Given the description of an element on the screen output the (x, y) to click on. 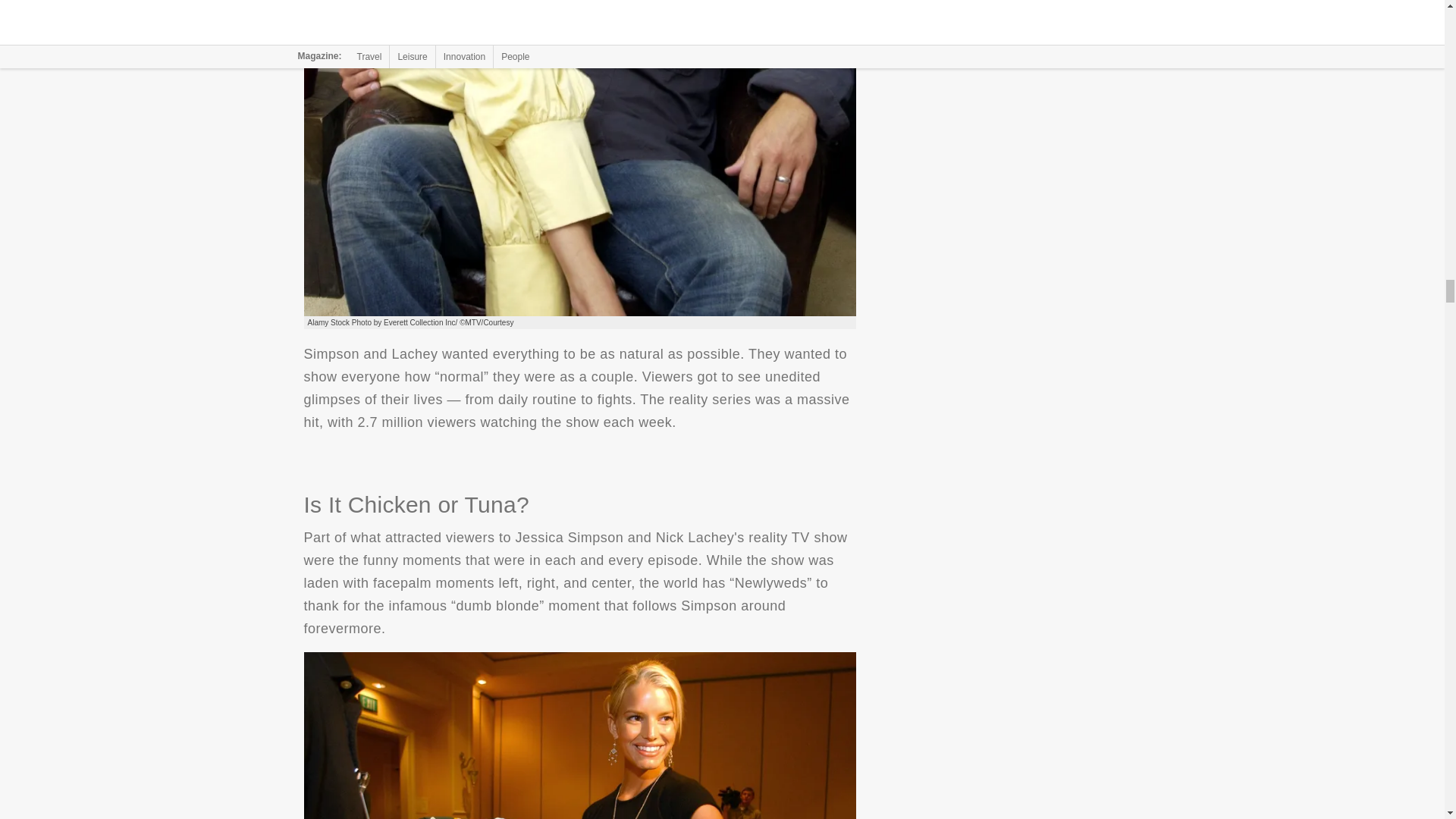
Is It Chicken or Tuna? (579, 735)
